Given the description of an element on the screen output the (x, y) to click on. 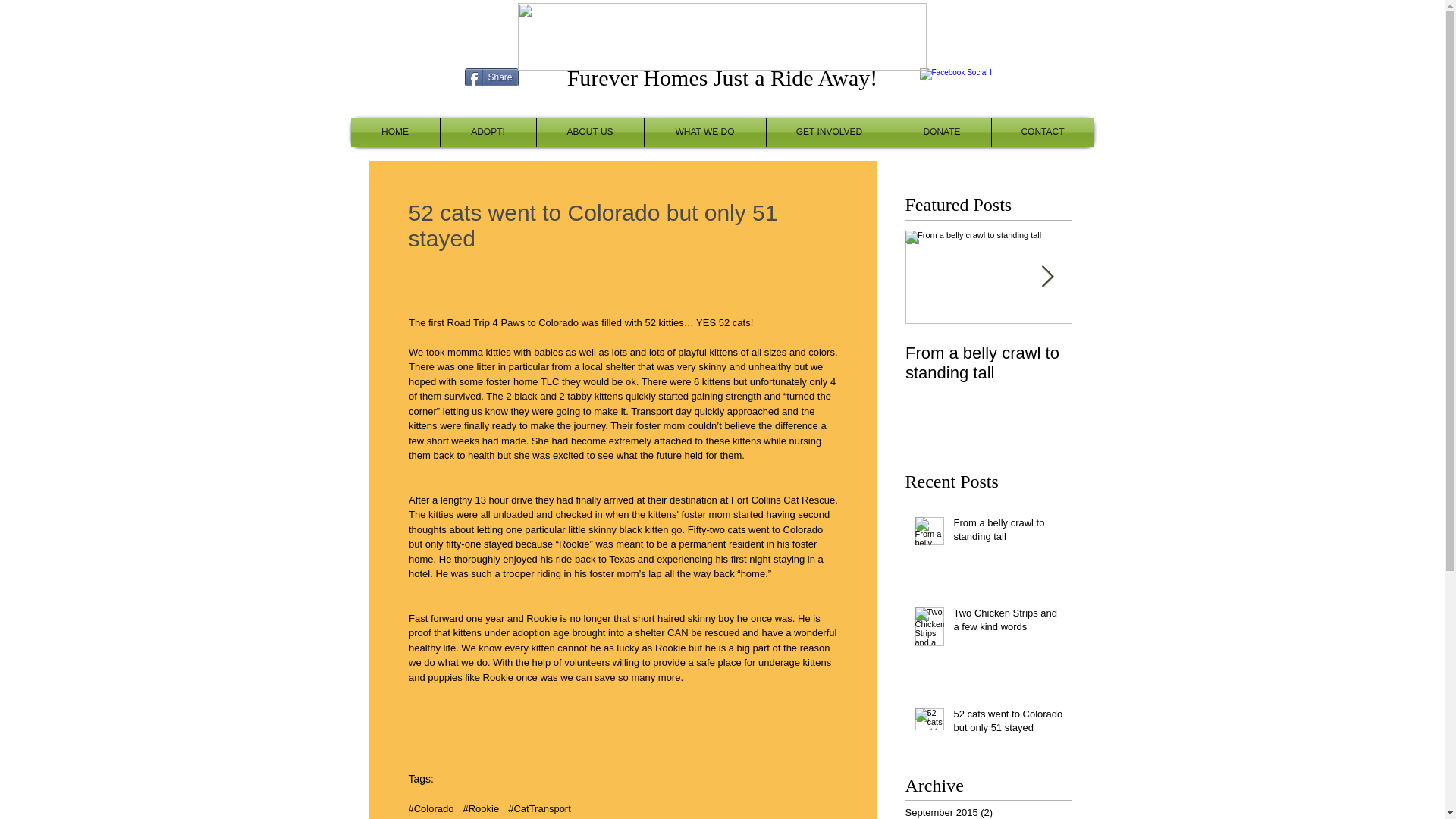
Two Chicken Strips and a few kind words (1155, 363)
From a belly crawl to standing tall (1007, 532)
Two Chicken Strips and a few kind words (1007, 622)
CONTACT (1042, 132)
DONATE (942, 132)
ABOUT US (590, 132)
Furever Homes Just a Ride Away! (722, 77)
52 cats went to Colorado but only 51 stayed (1007, 724)
HOME (394, 132)
WHAT WE DO (705, 132)
